Given the description of an element on the screen output the (x, y) to click on. 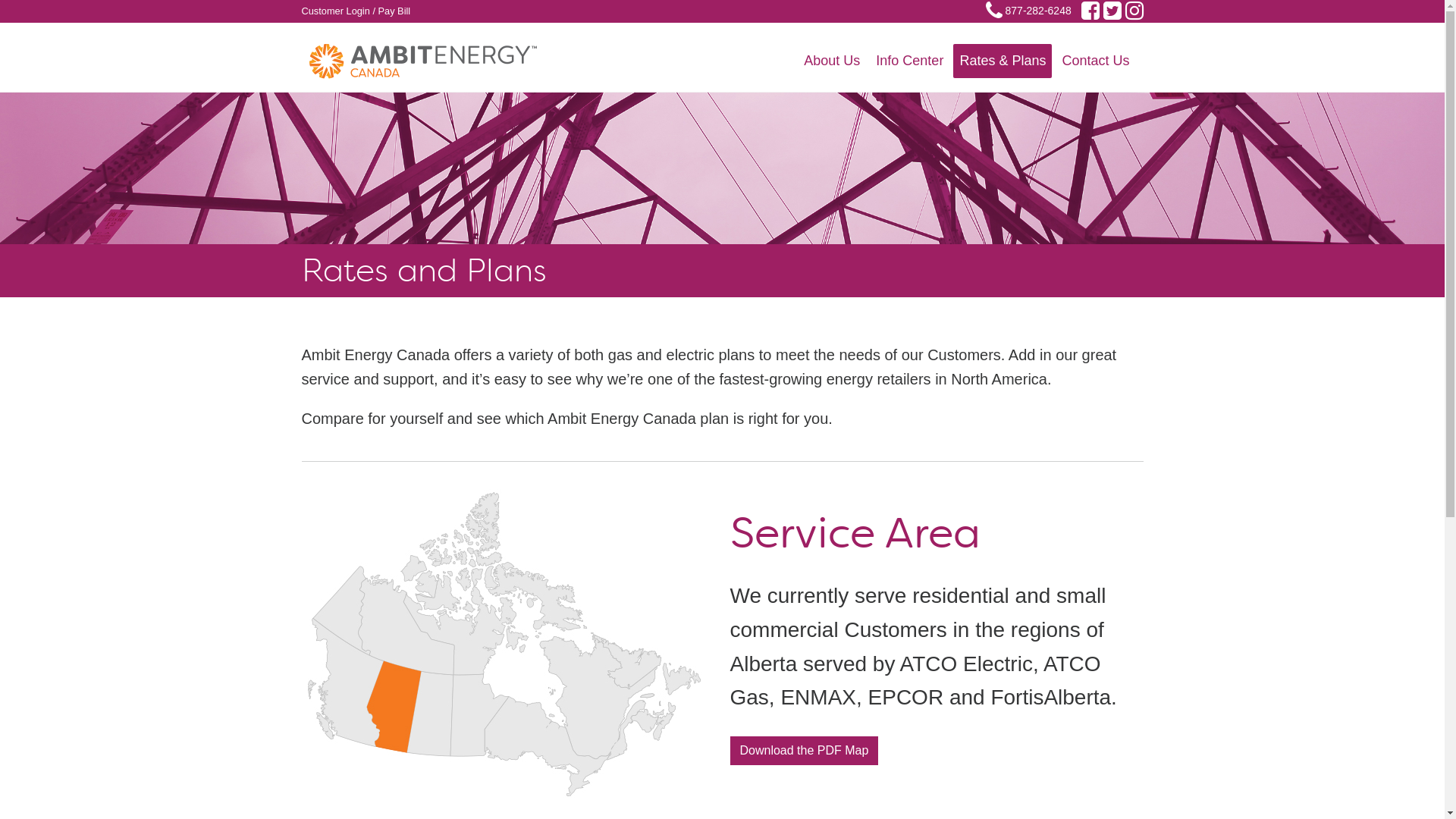
Contact Us Element type: text (1095, 60)
Rates & Plans
(current) Element type: text (1002, 60)
About Us Element type: text (831, 60)
Info Center Element type: text (909, 60)
Customer Login / Pay Bill Element type: text (356, 11)
Download the PDF Map Element type: text (803, 750)
